Given the description of an element on the screen output the (x, y) to click on. 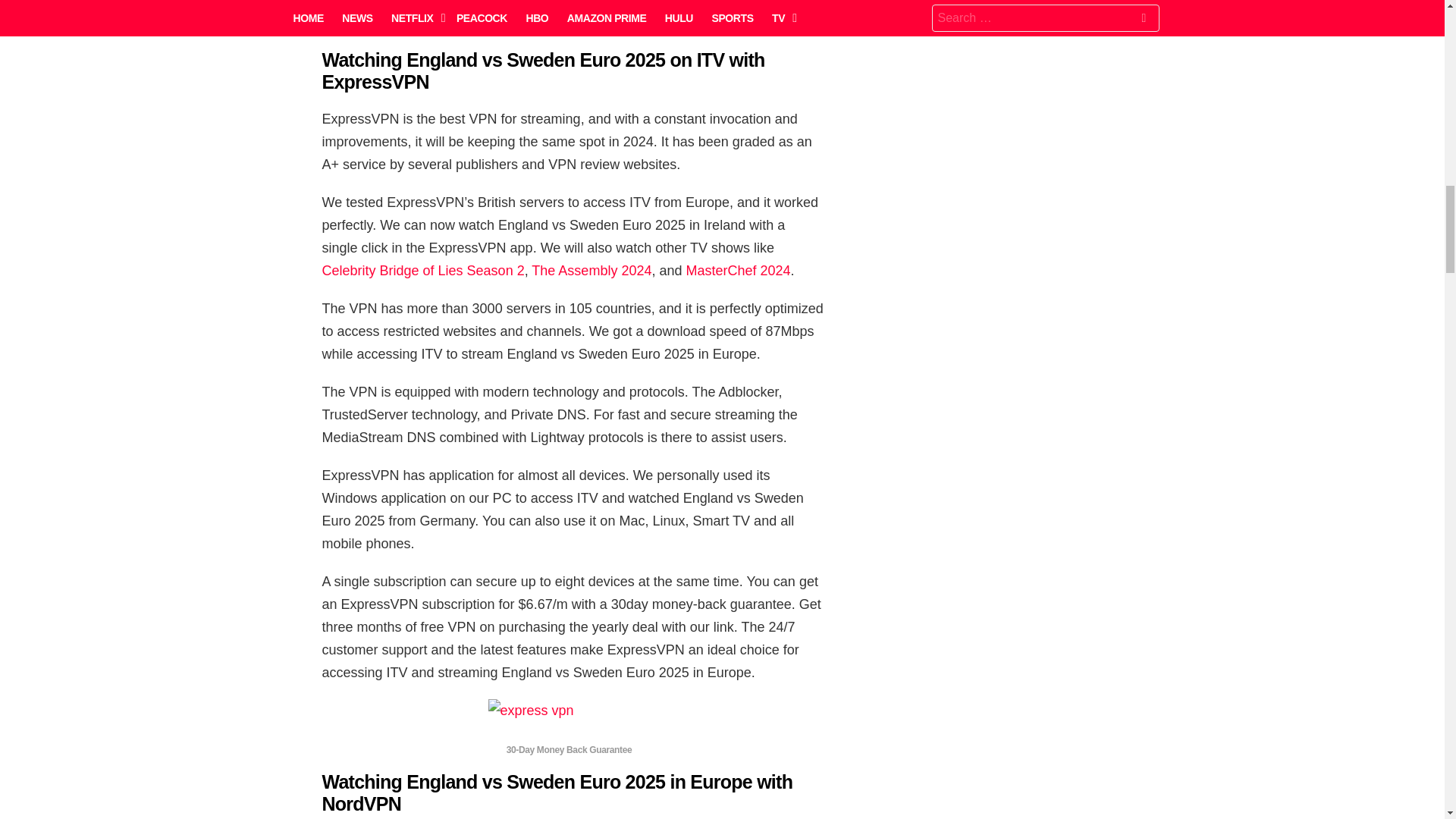
Celebrity Bridge of Lies Season 2 (422, 270)
MasterChef 2024 (737, 270)
The Assembly 2024 (590, 270)
